Given the description of an element on the screen output the (x, y) to click on. 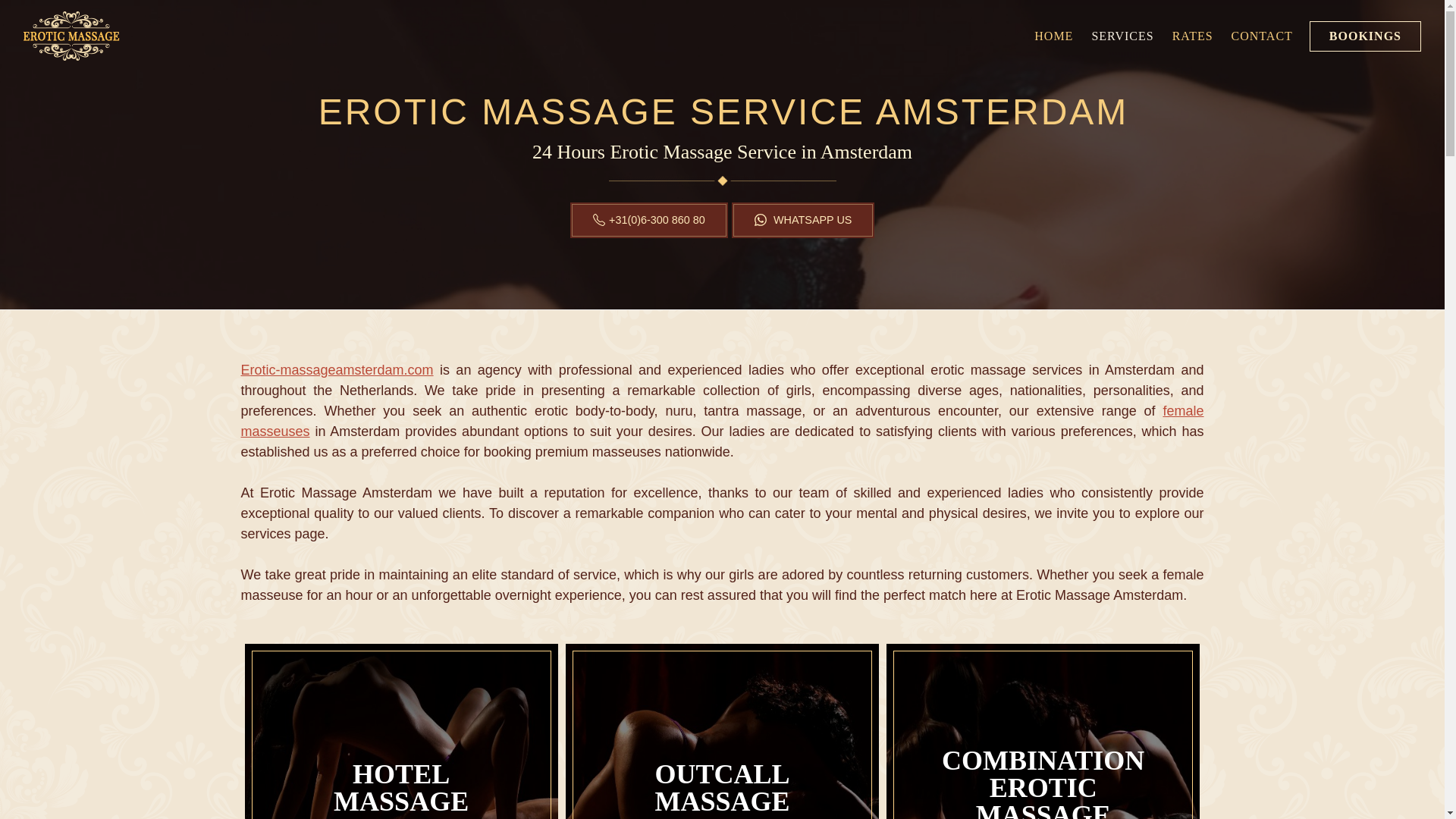
Bookings (1364, 36)
Home (1053, 36)
HOME (1053, 36)
Services (1121, 36)
CONTACT (1261, 36)
female masseuses (722, 420)
Contact (1261, 36)
Rates (1192, 36)
BOOKINGS (1364, 36)
SERVICES (1121, 36)
WHATSAPP US (803, 220)
Erotic-massageamsterdam.com (337, 369)
RATES (1192, 36)
